Given the description of an element on the screen output the (x, y) to click on. 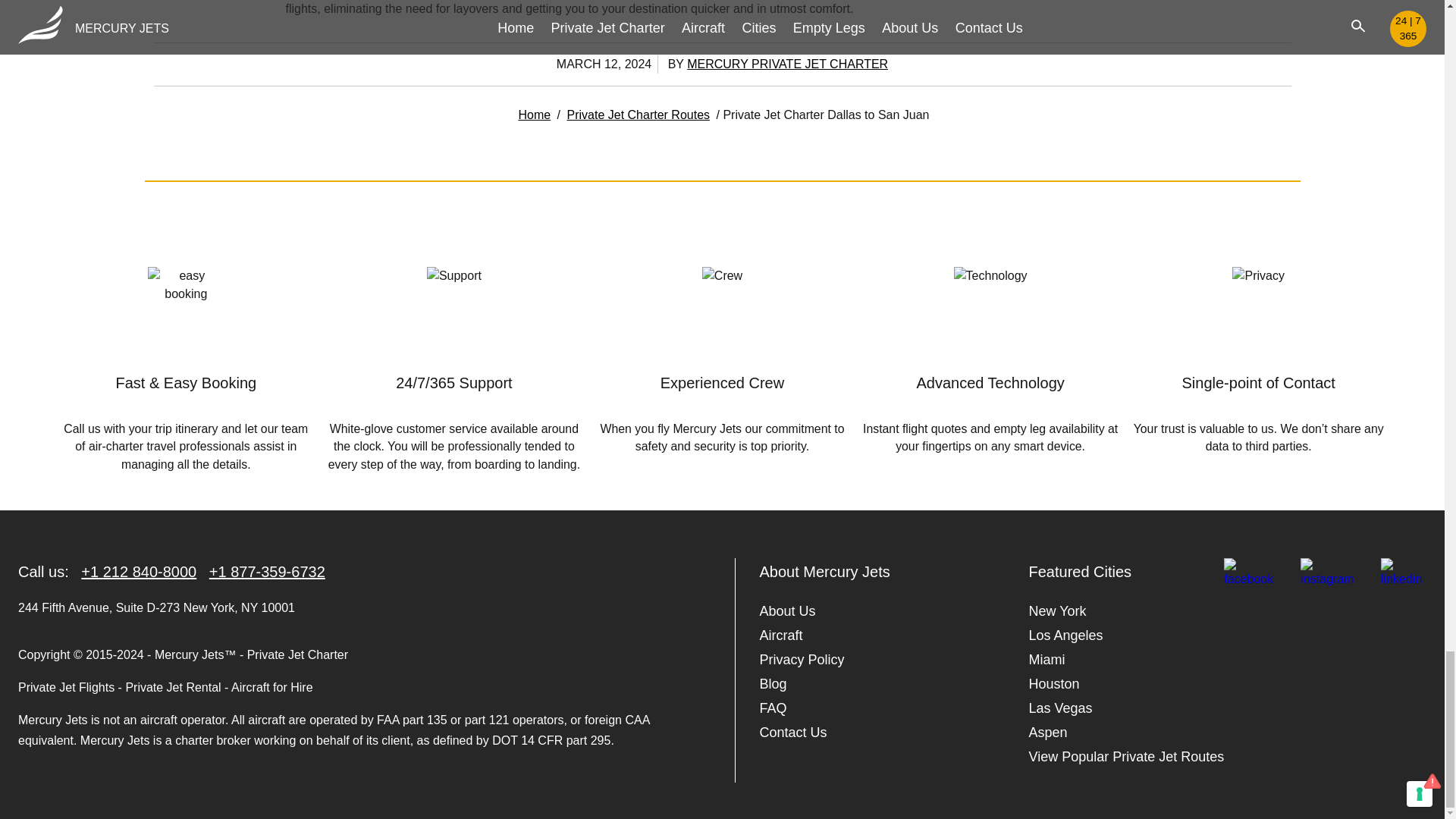
About Us (787, 610)
Posts by Mercury Private Jet Charter (787, 63)
Home (534, 114)
MERCURY PRIVATE JET CHARTER (787, 63)
Private Jet Charter Routes (638, 114)
Aircraft (781, 635)
